Given the description of an element on the screen output the (x, y) to click on. 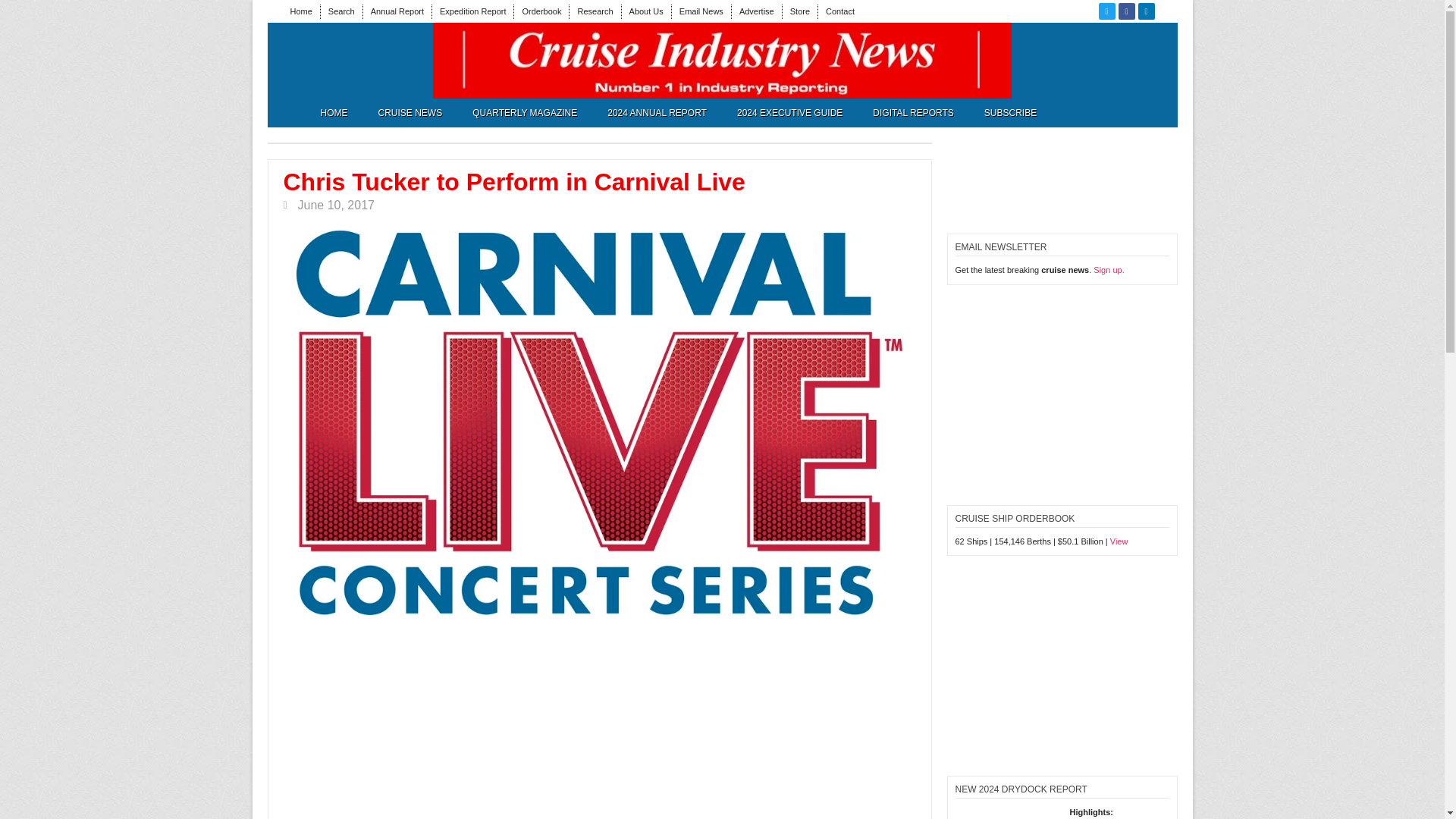
Orderbook (540, 11)
QUARTERLY MAGAZINE (524, 112)
Annual Report (397, 11)
Research (594, 11)
Email News (701, 11)
Advertise (756, 11)
Home (300, 11)
Store (799, 11)
HOME (333, 112)
Expedition Report (472, 11)
